Given the description of an element on the screen output the (x, y) to click on. 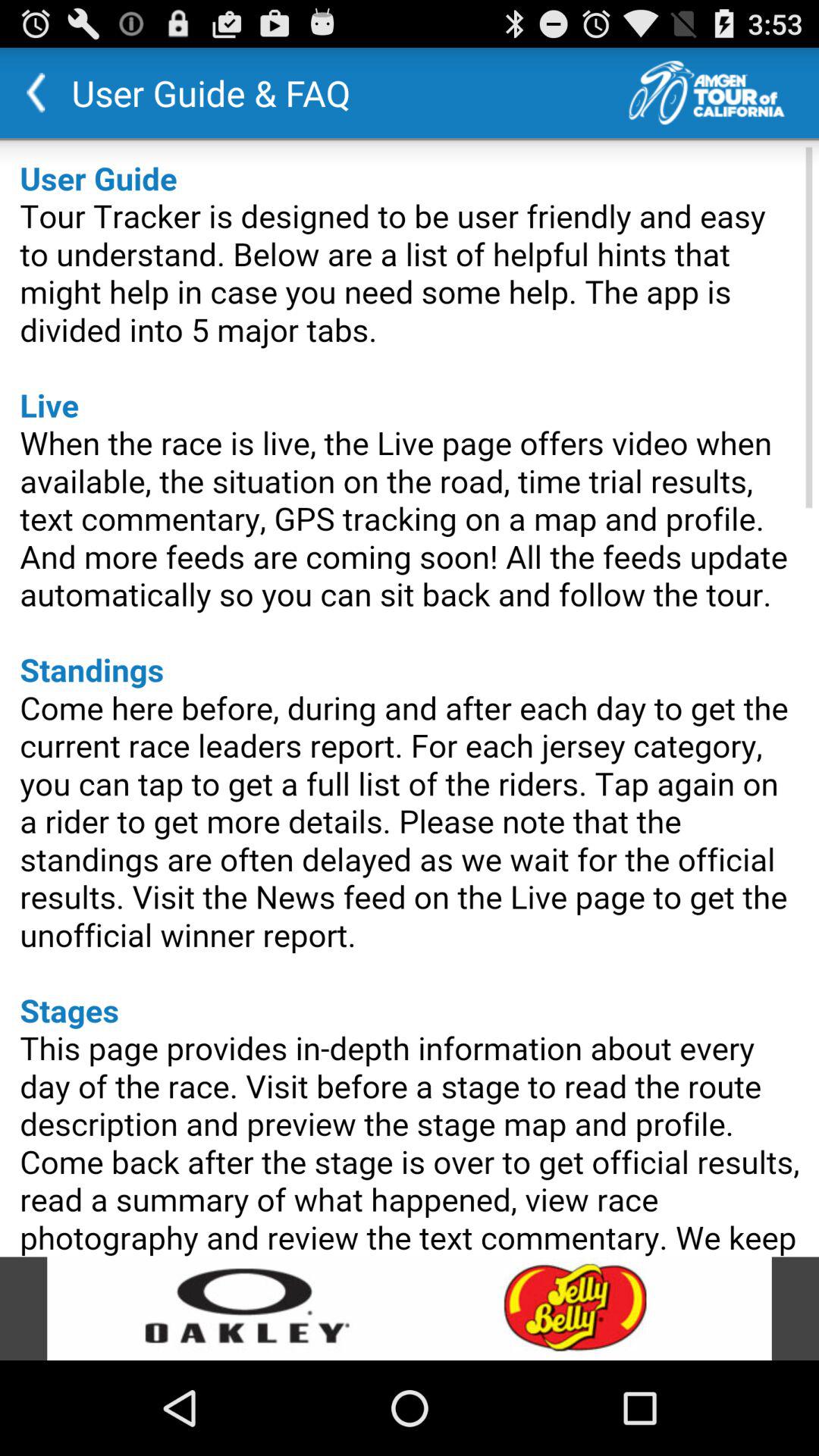
open advertisement (409, 1308)
